Given the description of an element on the screen output the (x, y) to click on. 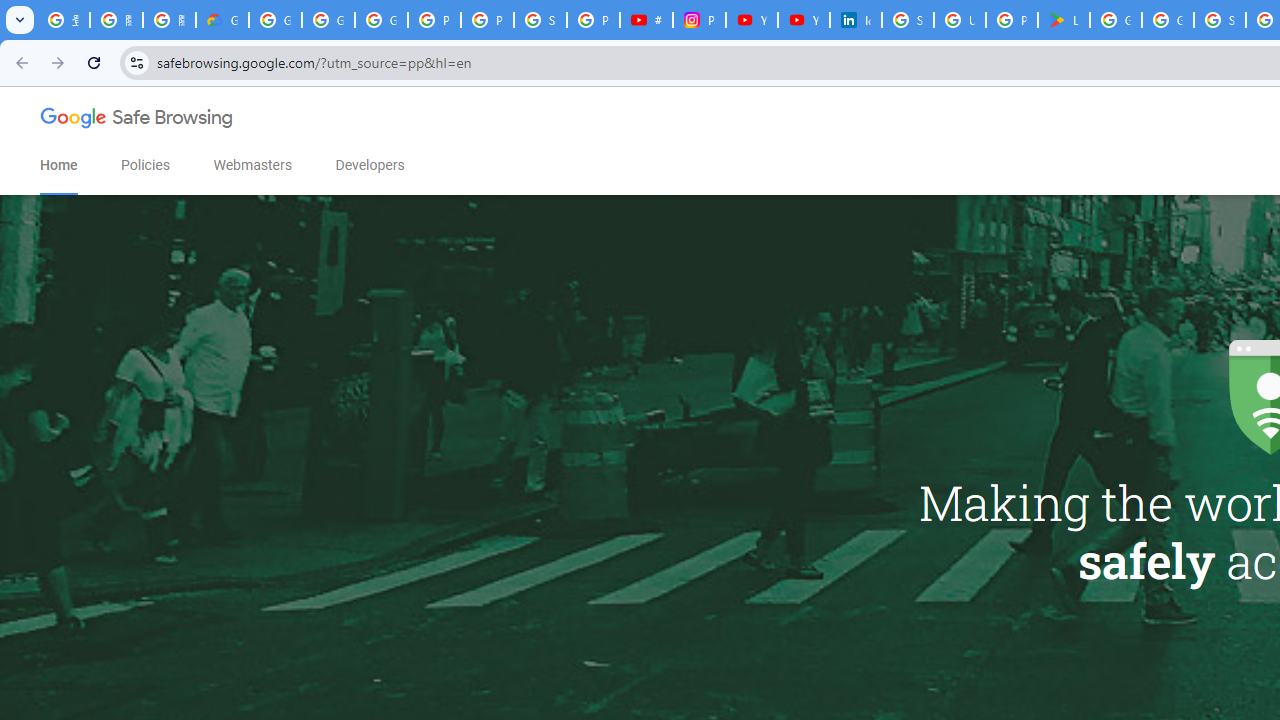
Sign in - Google Accounts (540, 20)
Sign in - Google Accounts (907, 20)
Home (58, 165)
